Given the description of an element on the screen output the (x, y) to click on. 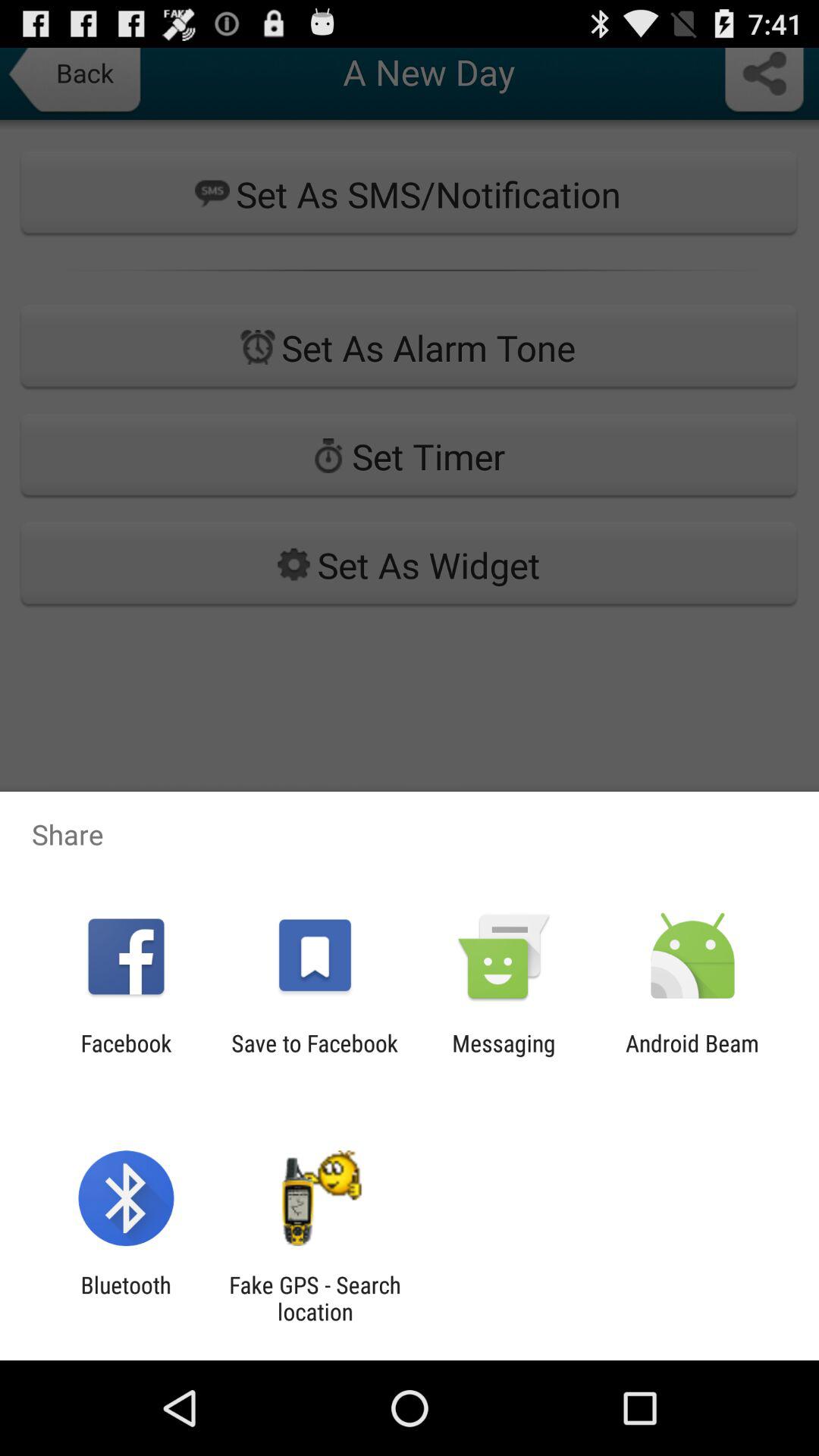
swipe until the save to facebook app (314, 1056)
